Given the description of an element on the screen output the (x, y) to click on. 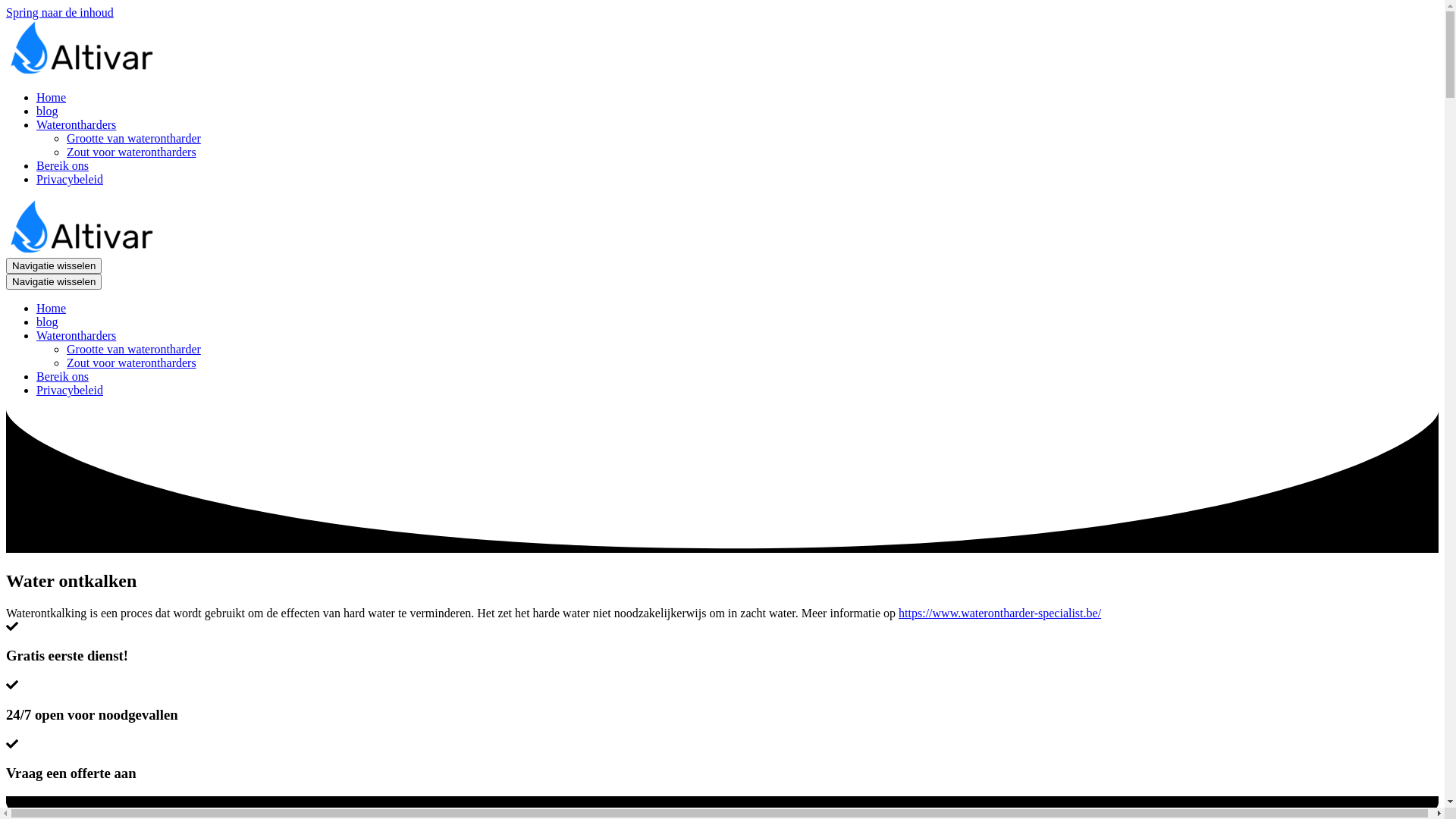
blog Element type: text (46, 110)
blog Element type: text (46, 321)
Home Element type: text (50, 307)
https://www.waterontharder-specialist.be/ Element type: text (999, 612)
Grootte van waterontharder Element type: text (133, 137)
Spring naar de inhoud Element type: text (59, 12)
Privacybeleid Element type: text (69, 389)
Bereik ons Element type: text (62, 165)
Waterontkalker Plaatsen Element type: hover (81, 250)
Waterontharders Element type: text (737, 124)
Home Element type: text (50, 97)
Navigatie wisselen Element type: text (53, 265)
Navigatie wisselen Element type: text (53, 281)
Privacybeleid Element type: text (69, 178)
Bereik ons Element type: text (62, 376)
Zout voor waterontharders Element type: text (131, 151)
Grootte van waterontharder Element type: text (133, 348)
Zout voor waterontharders Element type: text (131, 362)
Waterontkalker Plaatsen Element type: hover (81, 71)
Waterontharders Element type: text (737, 335)
